Given the description of an element on the screen output the (x, y) to click on. 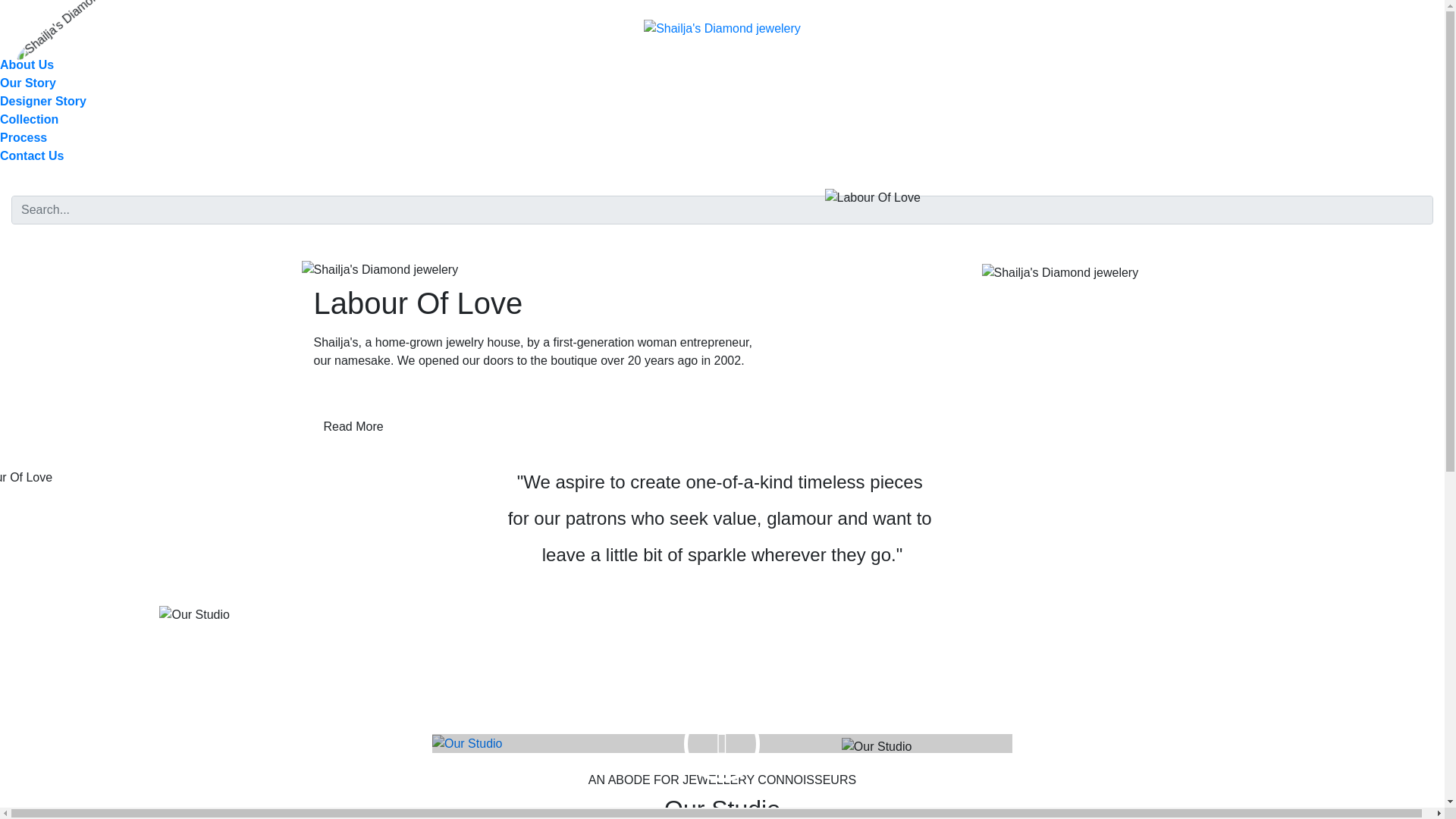
Designer Story (42, 101)
Process (23, 137)
Collection (29, 119)
About Us (26, 64)
Our Story (28, 82)
Contact Us (32, 155)
Read More (353, 426)
